Given the description of an element on the screen output the (x, y) to click on. 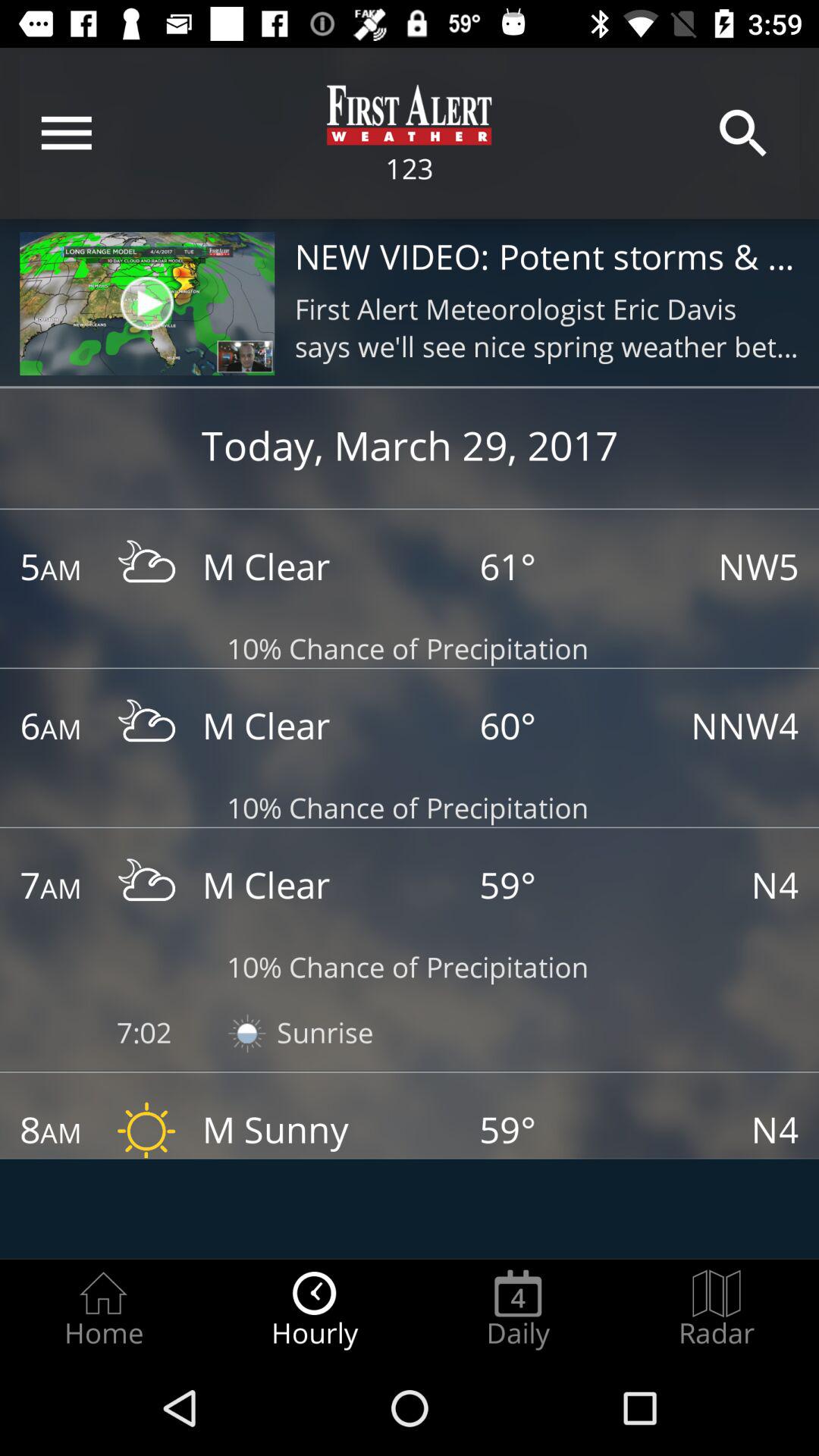
turn on daily (518, 1309)
